Given the description of an element on the screen output the (x, y) to click on. 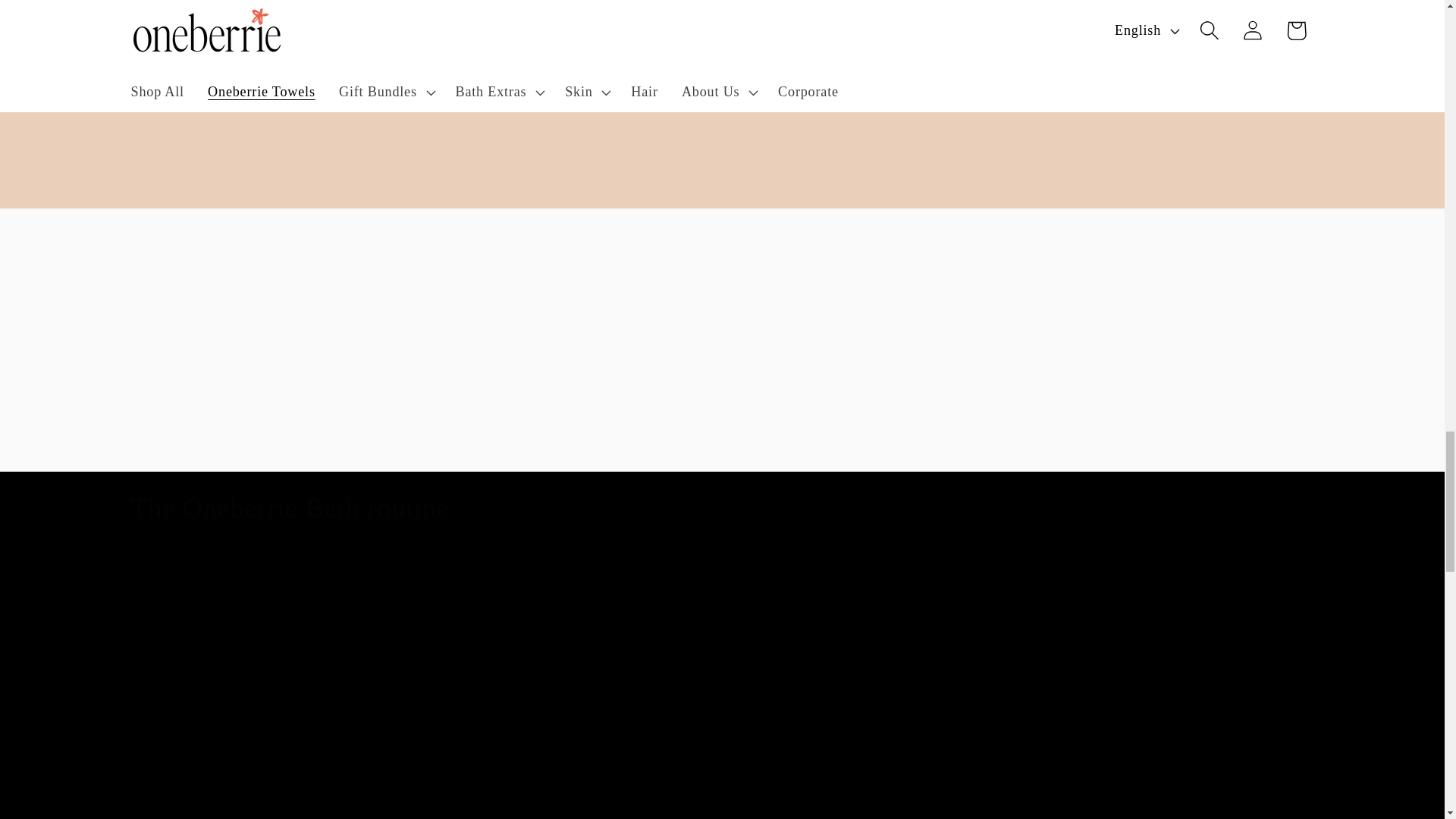
Step 3. Head (722, 697)
Step 4. Body (960, 697)
Step 1. BReady (248, 697)
Step 2. Swaddle (485, 697)
Step 5. Dry (1197, 697)
